Given the description of an element on the screen output the (x, y) to click on. 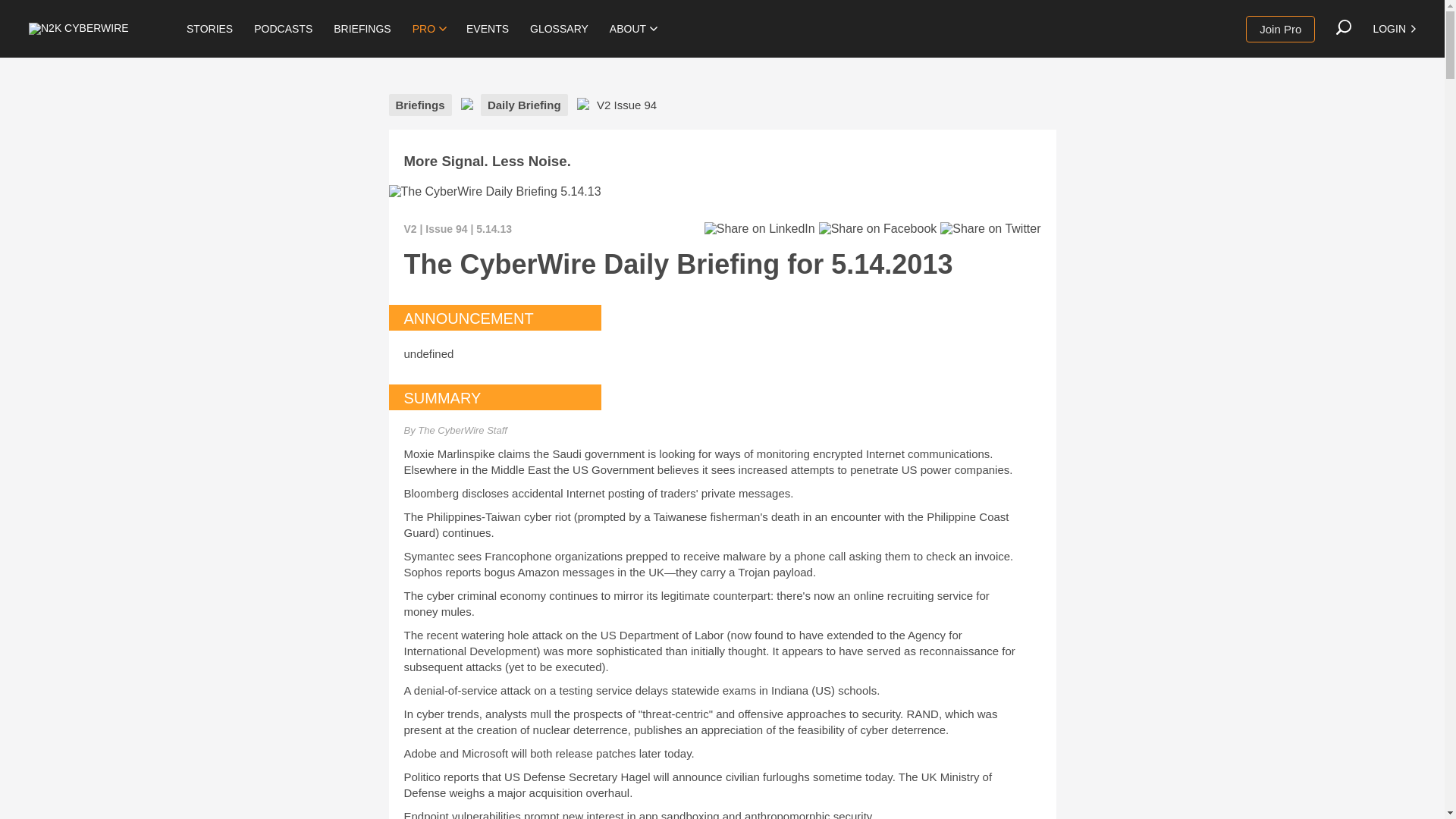
EVENTS (487, 28)
Search the site (1343, 27)
GLOSSARY (558, 28)
STORIES (209, 28)
BRIEFINGS (362, 28)
PODCASTS (283, 28)
Join Pro (1280, 28)
